Given the description of an element on the screen output the (x, y) to click on. 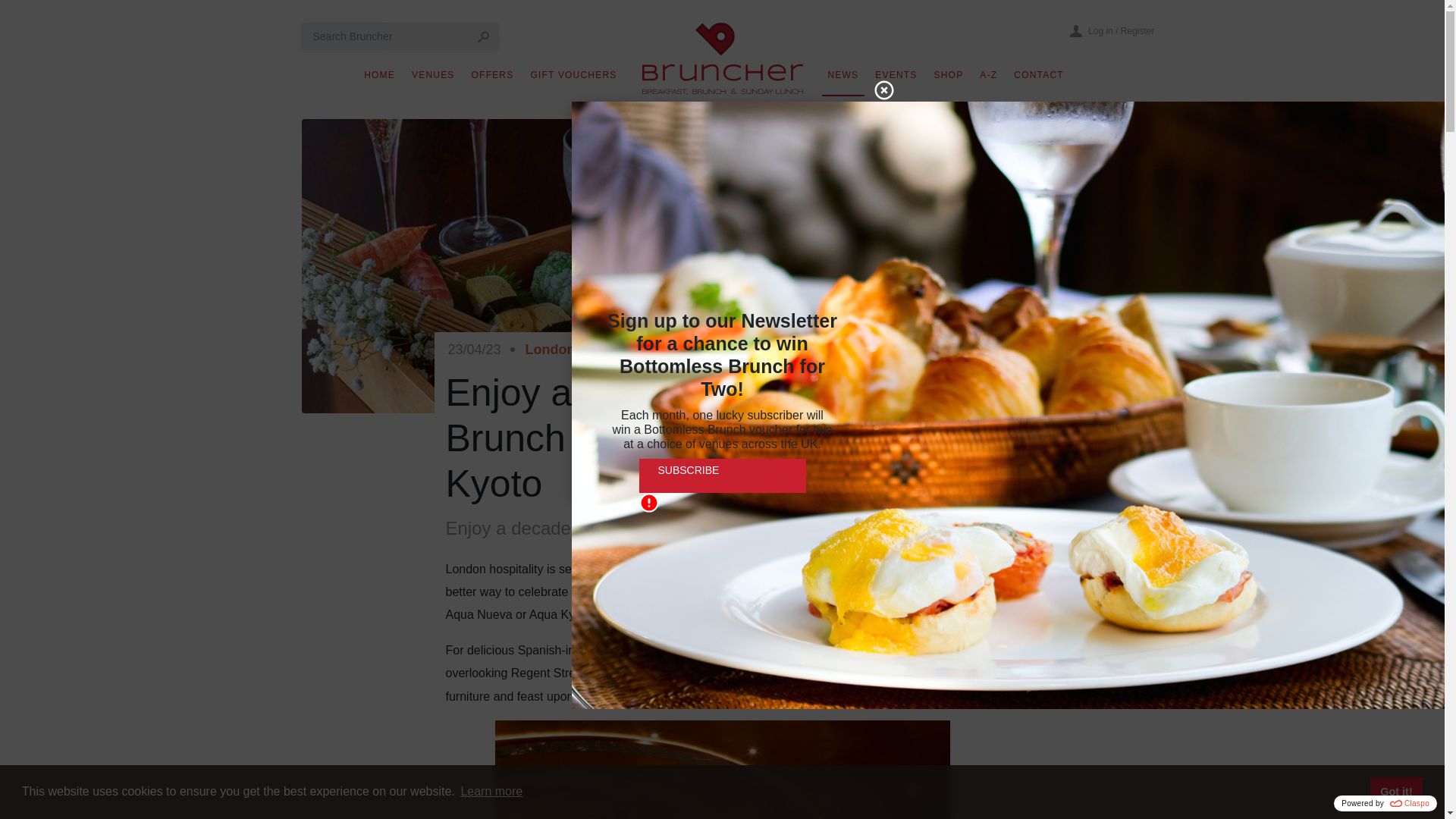
VENUES (433, 78)
Search (482, 36)
SHOP (948, 78)
Got it! (1396, 791)
GIFT VOUCHERS (573, 78)
Search (482, 36)
CONTACT (1038, 78)
EVENTS (896, 78)
undefined (722, 769)
HOME (379, 78)
NEWS (843, 78)
Learn more (491, 791)
Log in (1100, 30)
Register (1137, 30)
OFFERS (492, 78)
